Given the description of an element on the screen output the (x, y) to click on. 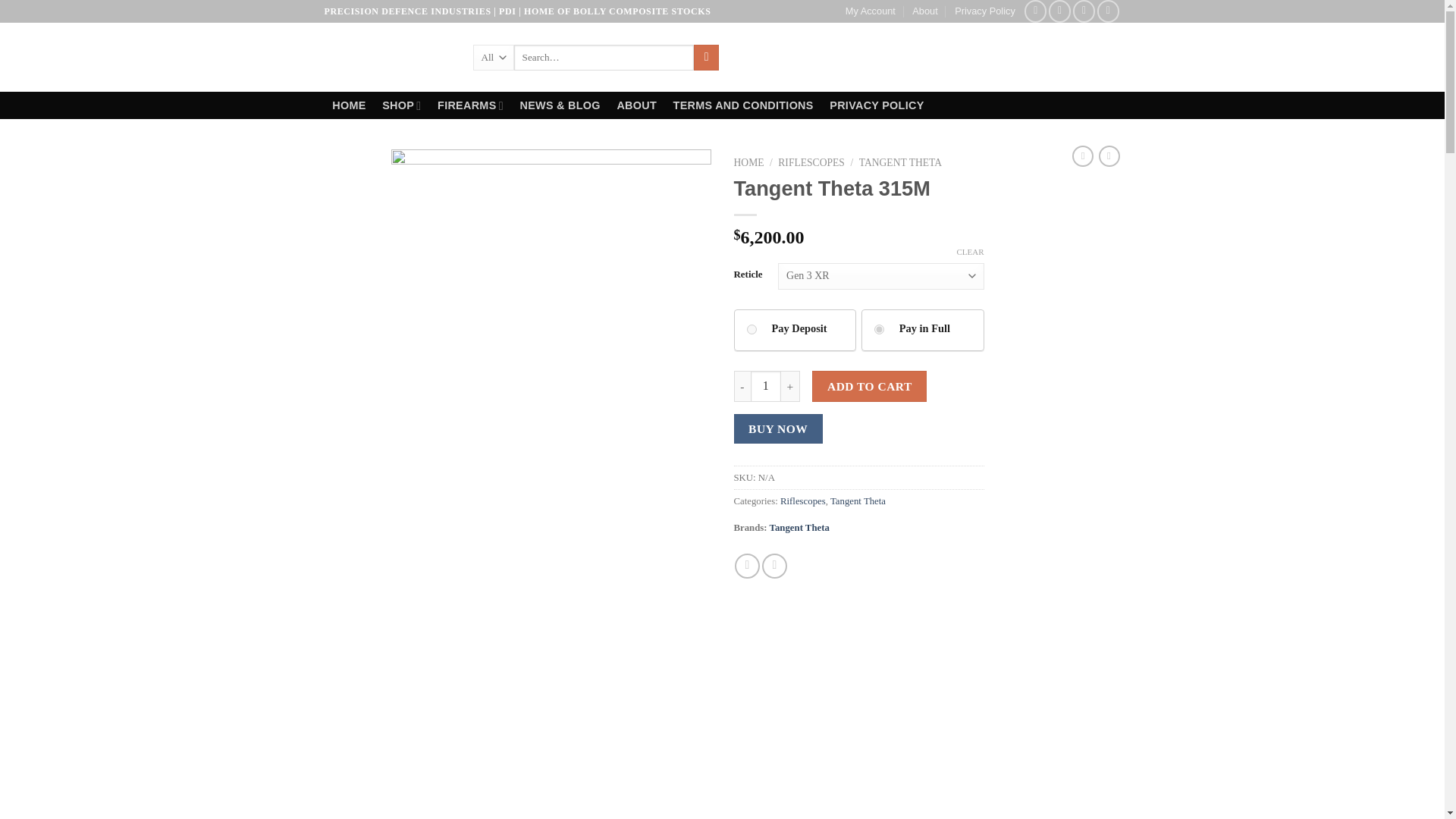
yes (750, 329)
Cart (1074, 57)
TERMS AND CONDITIONS (743, 104)
Login (991, 57)
Share on Facebook (747, 565)
About (924, 11)
Send us an email (1083, 11)
PRIVACY POLICY (876, 104)
Privacy Policy (984, 11)
HOME (349, 104)
